Given the description of an element on the screen output the (x, y) to click on. 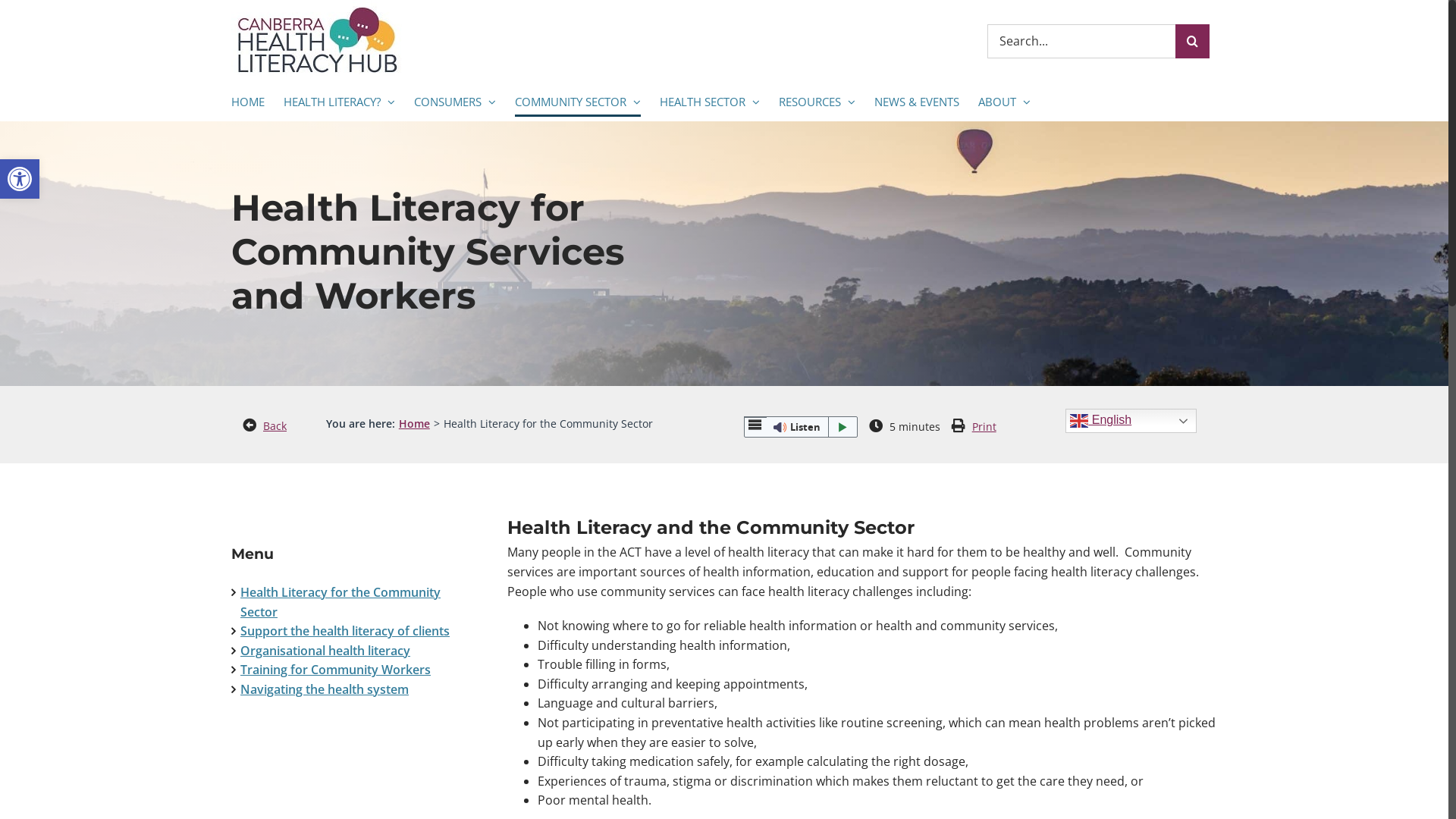
Home Element type: text (413, 423)
English Element type: text (1130, 420)
HEALTH LITERACY? Element type: text (339, 101)
RESOURCES Element type: text (816, 101)
Listen Element type: text (800, 426)
Support the health literacy of clients Element type: text (344, 630)
Back Element type: text (274, 425)
COMMUNITY SECTOR Element type: text (577, 101)
Organisational health literacy Element type: text (325, 650)
HEALTH SECTOR Element type: text (709, 101)
Open toolbar
Accessibility Tools Element type: text (19, 178)
Training for Community Workers Element type: text (335, 669)
Health Literacy for the Community Sector Element type: text (340, 601)
webReader menu Element type: hover (754, 416)
NEWS & EVENTS Element type: text (916, 101)
Navigating the health system Element type: text (324, 688)
ABOUT Element type: text (1004, 101)
HOME Element type: text (247, 101)
CONSUMERS Element type: text (454, 101)
Print Element type: text (984, 426)
